Given the description of an element on the screen output the (x, y) to click on. 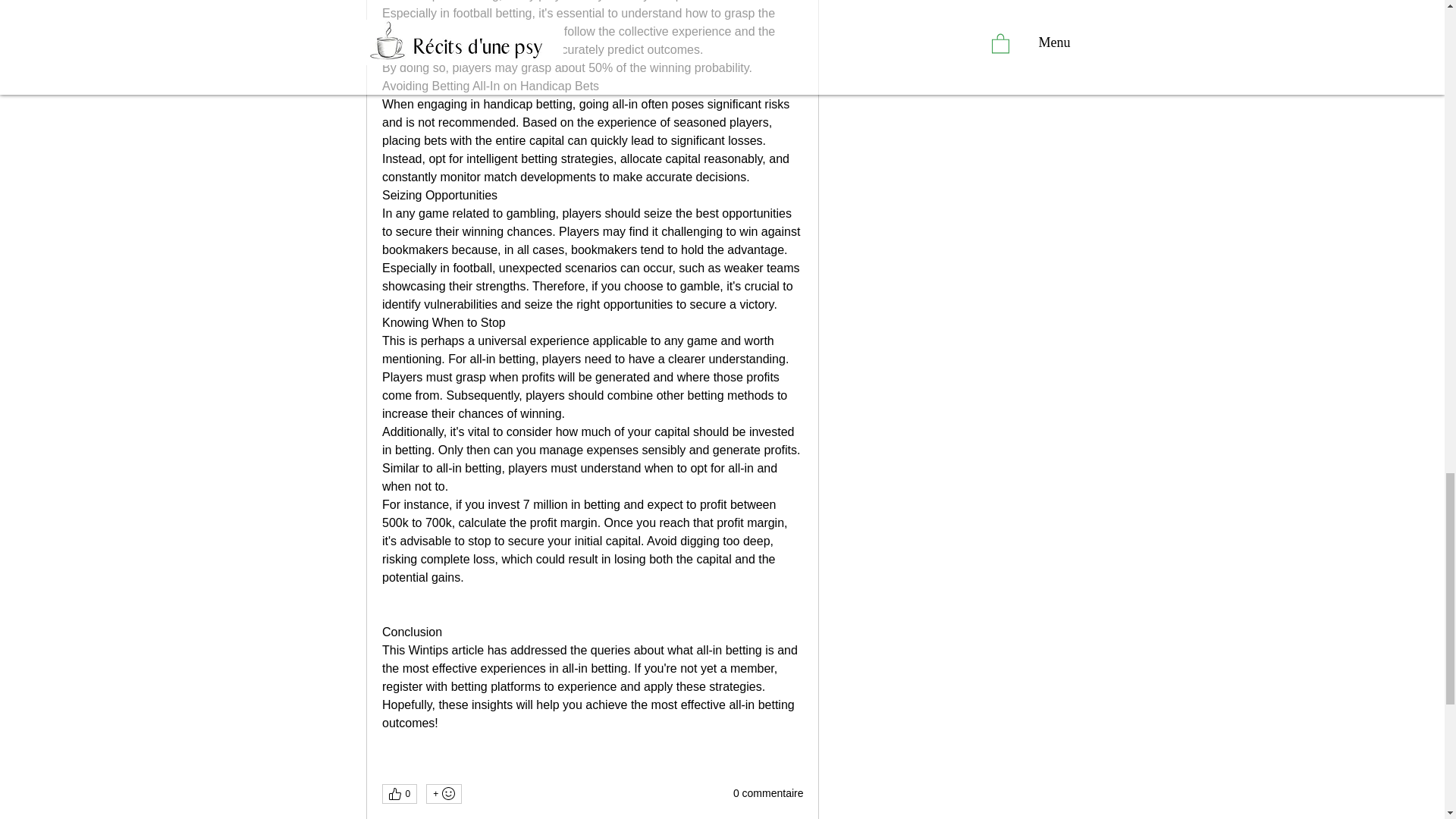
0 commentaire (768, 793)
